Given the description of an element on the screen output the (x, y) to click on. 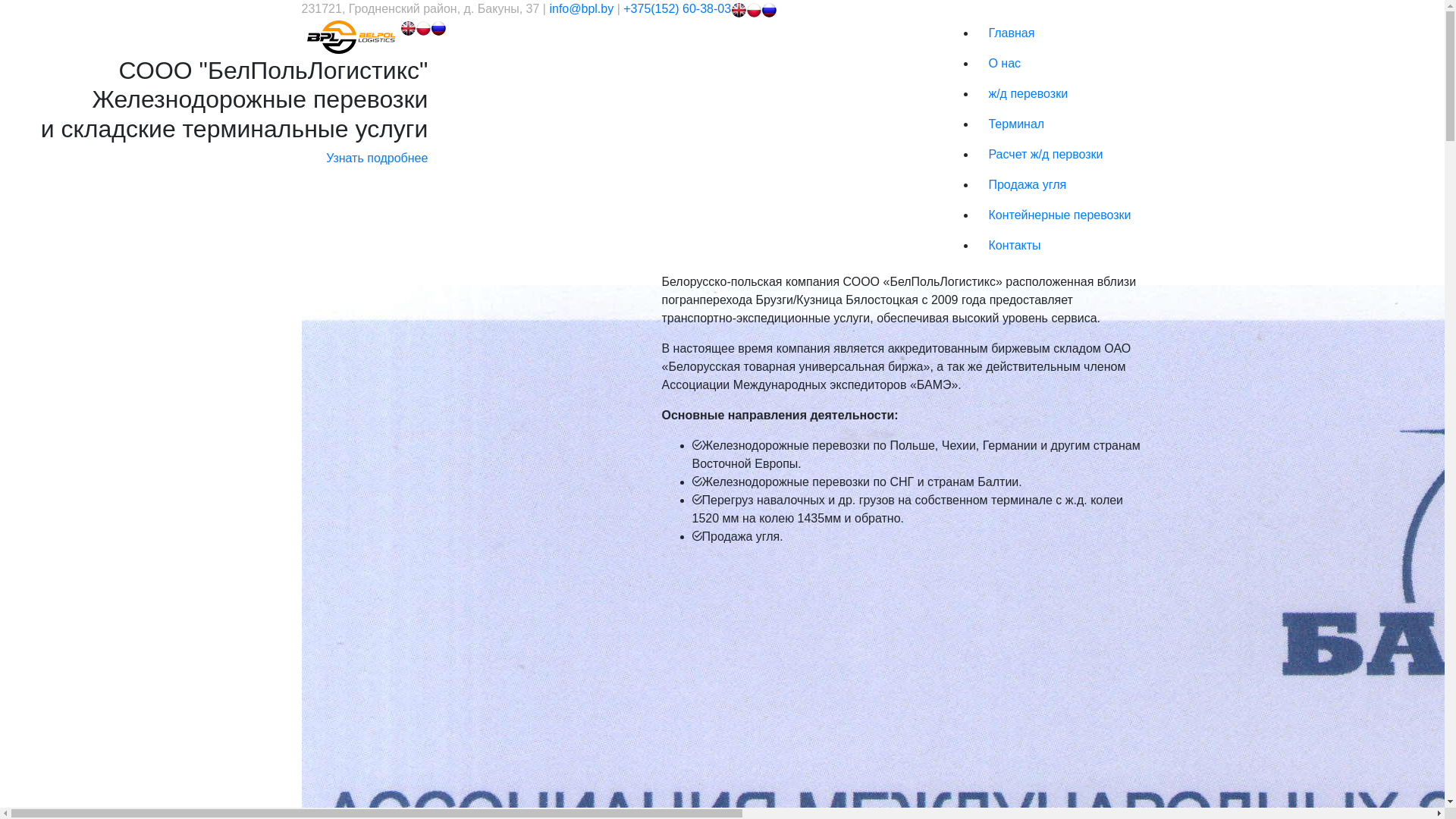
+375(152) 60-38-03 Element type: text (677, 8)
info@bpl.by Element type: text (581, 8)
